Given the description of an element on the screen output the (x, y) to click on. 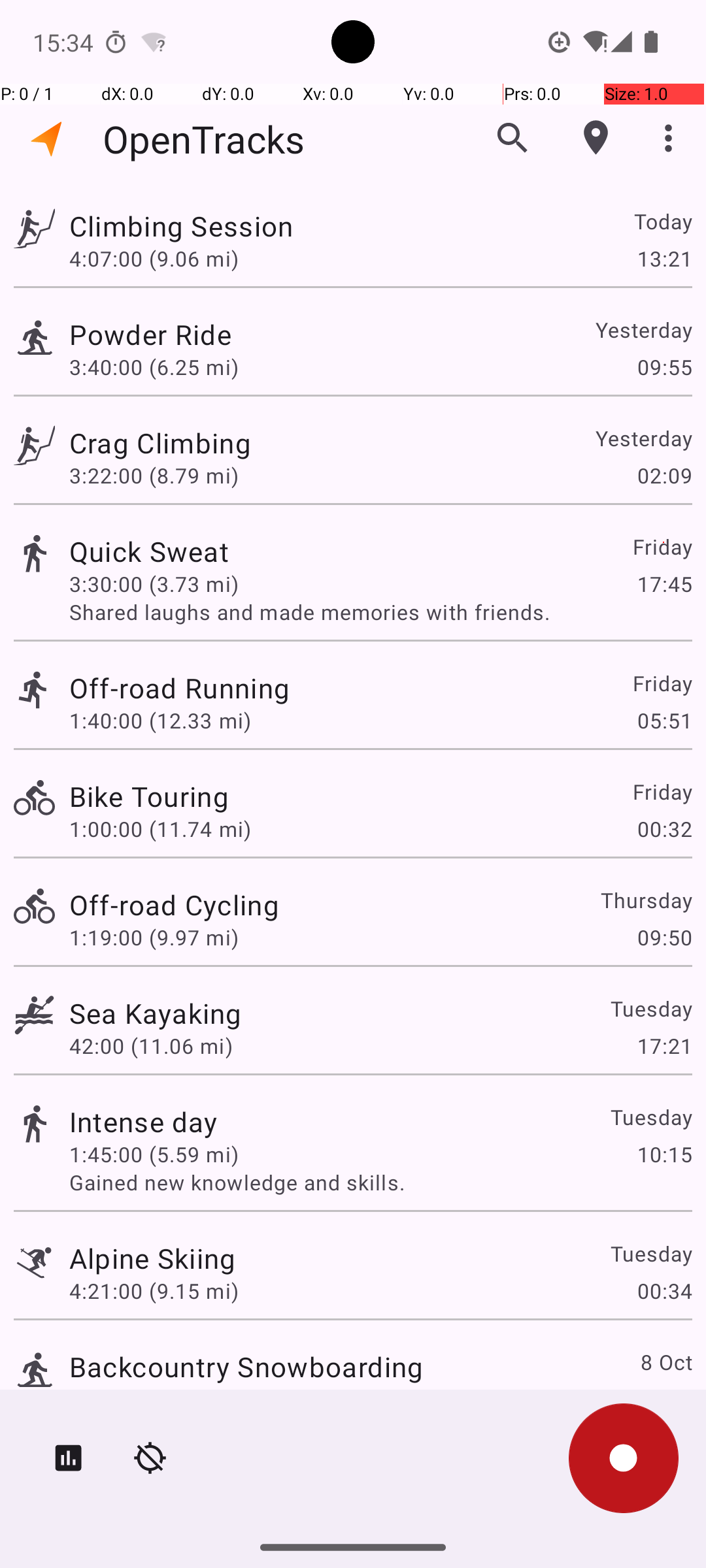
Climbing Session Element type: android.widget.TextView (180, 225)
4:07:00 (9.06 mi) Element type: android.widget.TextView (153, 258)
13:21 Element type: android.widget.TextView (664, 258)
Powder Ride Element type: android.widget.TextView (150, 333)
3:40:00 (6.25 mi) Element type: android.widget.TextView (153, 366)
09:55 Element type: android.widget.TextView (664, 366)
Crag Climbing Element type: android.widget.TextView (159, 442)
3:22:00 (8.79 mi) Element type: android.widget.TextView (153, 475)
02:09 Element type: android.widget.TextView (664, 475)
Quick Sweat Element type: android.widget.TextView (148, 550)
3:30:00 (3.73 mi) Element type: android.widget.TextView (153, 583)
17:45 Element type: android.widget.TextView (664, 583)
Shared laughs and made memories with friends. Element type: android.widget.TextView (380, 611)
Off-road Running Element type: android.widget.TextView (179, 687)
1:40:00 (12.33 mi) Element type: android.widget.TextView (159, 720)
05:51 Element type: android.widget.TextView (664, 720)
Bike Touring Element type: android.widget.TextView (148, 795)
1:00:00 (11.74 mi) Element type: android.widget.TextView (159, 828)
00:32 Element type: android.widget.TextView (664, 828)
Off-road Cycling Element type: android.widget.TextView (173, 904)
1:19:00 (9.97 mi) Element type: android.widget.TextView (153, 937)
09:50 Element type: android.widget.TextView (664, 937)
Sea Kayaking Element type: android.widget.TextView (155, 1012)
42:00 (11.06 mi) Element type: android.widget.TextView (150, 1045)
17:21 Element type: android.widget.TextView (664, 1045)
Intense day Element type: android.widget.TextView (143, 1121)
1:45:00 (5.59 mi) Element type: android.widget.TextView (153, 1154)
10:15 Element type: android.widget.TextView (664, 1154)
Gained new knowledge and skills. Element type: android.widget.TextView (380, 1182)
Alpine Skiing Element type: android.widget.TextView (152, 1257)
4:21:00 (9.15 mi) Element type: android.widget.TextView (153, 1290)
00:34 Element type: android.widget.TextView (664, 1290)
Backcountry Snowboarding Element type: android.widget.TextView (246, 1366)
2:26:00 (6.32 mi) Element type: android.widget.TextView (153, 1399)
12:16 Element type: android.widget.TextView (664, 1399)
